Given the description of an element on the screen output the (x, y) to click on. 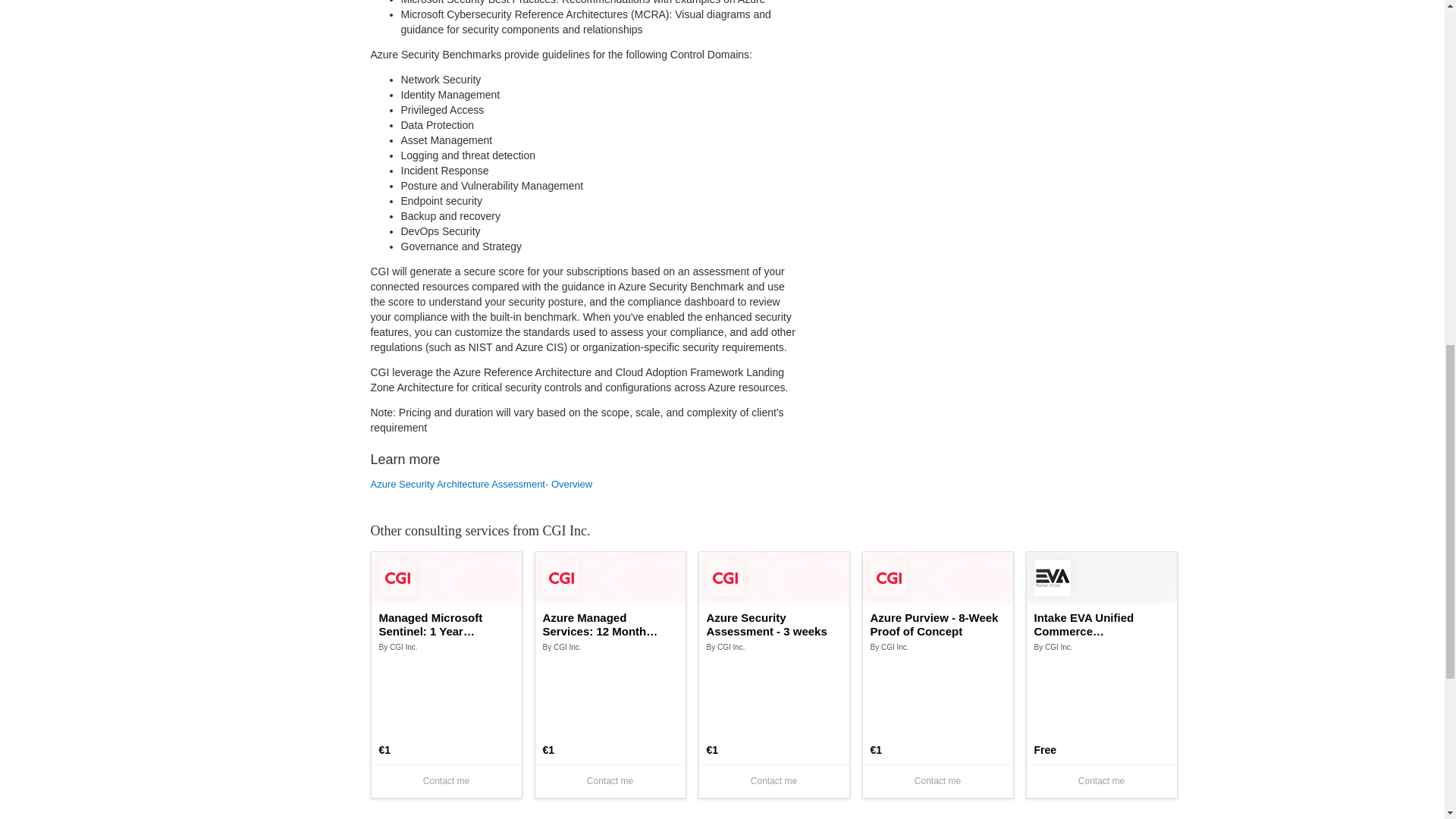
Azure Managed Services: 12 Month Implementation (610, 624)
Azure Purview - 8-Week Proof of Concept (938, 624)
Managed Microsoft Sentinel: 1 Year Implementation (445, 624)
Intake EVA Unified Commerce Implementation (1101, 624)
Azure Security Assessment - 3 weeks (773, 624)
